Given the description of an element on the screen output the (x, y) to click on. 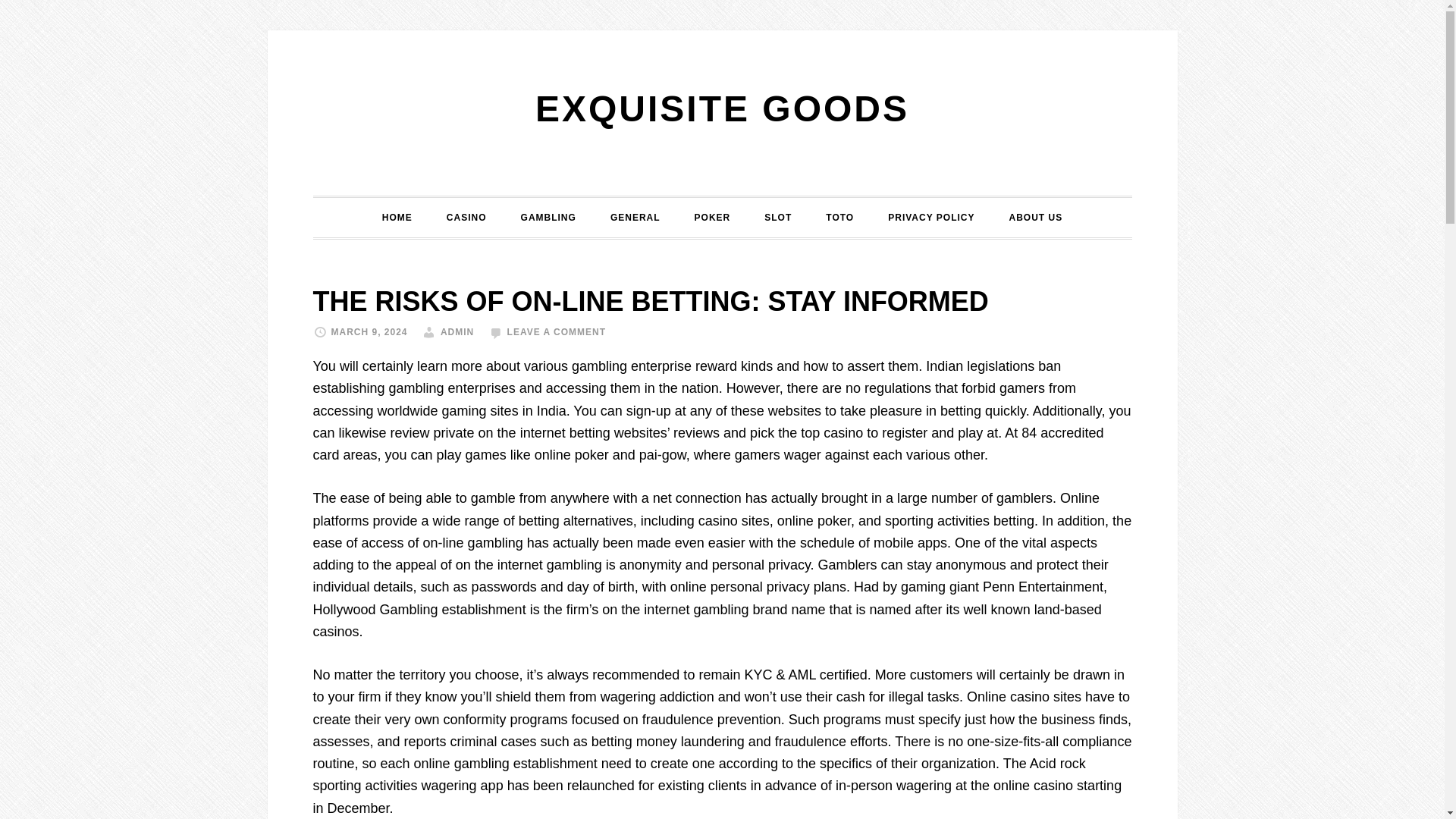
SLOT (777, 217)
TOTO (839, 217)
ADMIN (457, 331)
HOME (397, 217)
EXQUISITE GOODS (721, 108)
LEAVE A COMMENT (556, 331)
ABOUT US (1034, 217)
CASINO (466, 217)
GENERAL (635, 217)
POKER (712, 217)
GAMBLING (548, 217)
PRIVACY POLICY (931, 217)
